Given the description of an element on the screen output the (x, y) to click on. 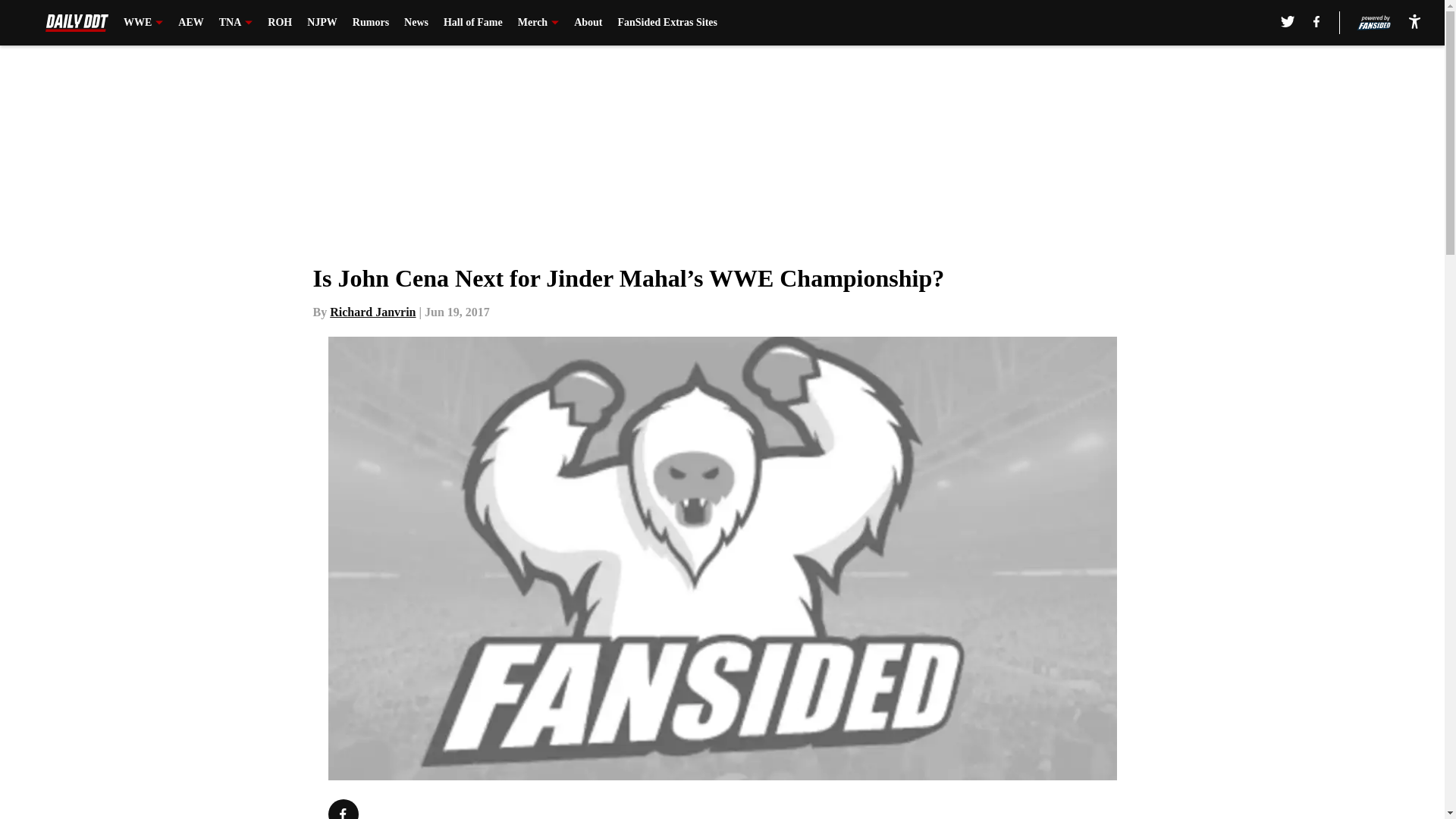
Rumors (370, 22)
ROH (279, 22)
News (416, 22)
NJPW (322, 22)
Hall of Fame (473, 22)
FanSided Extras Sites (666, 22)
Richard Janvrin (372, 311)
About (587, 22)
AEW (190, 22)
